Given the description of an element on the screen output the (x, y) to click on. 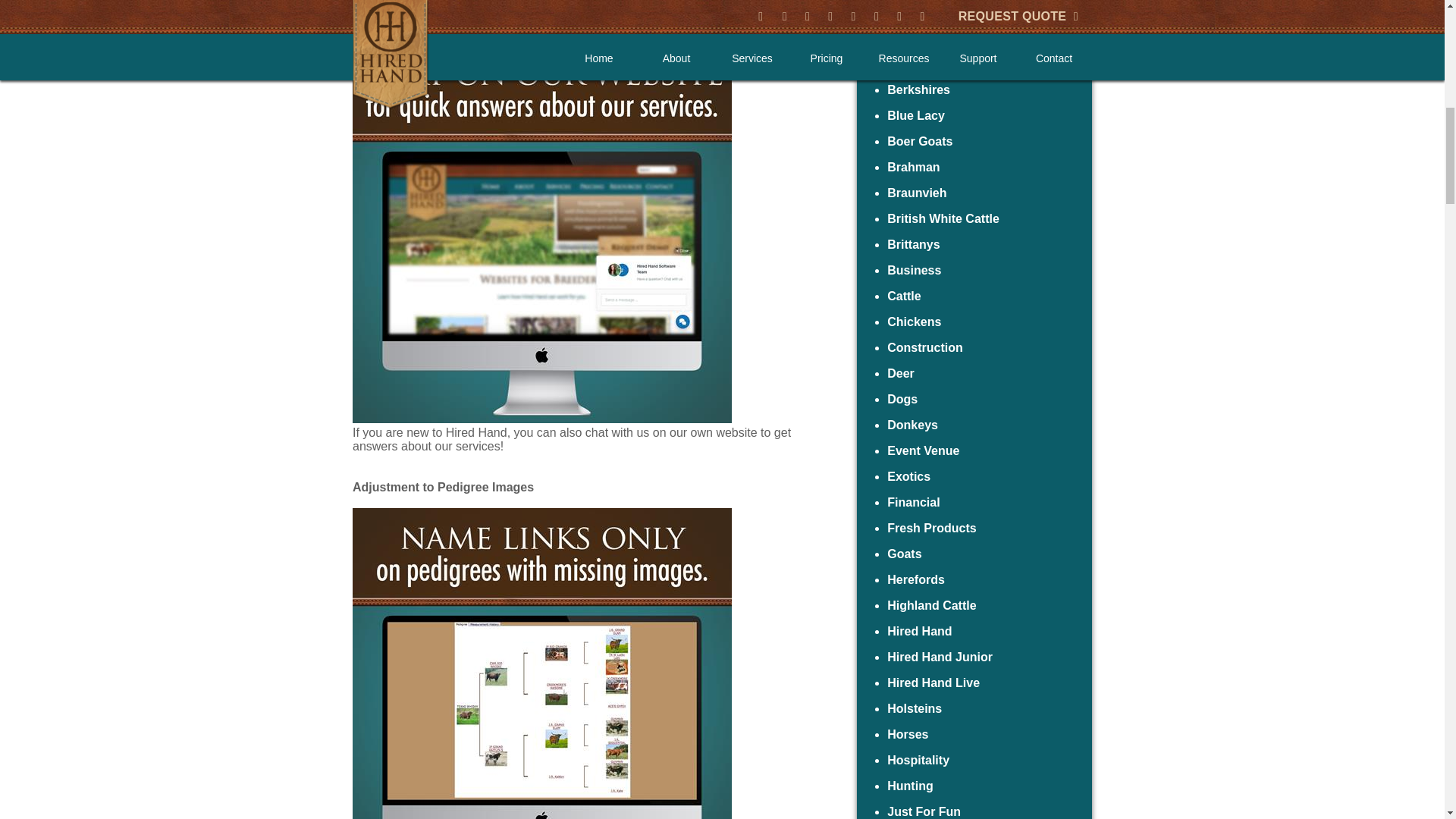
pedigree adjustments (542, 663)
